Given the description of an element on the screen output the (x, y) to click on. 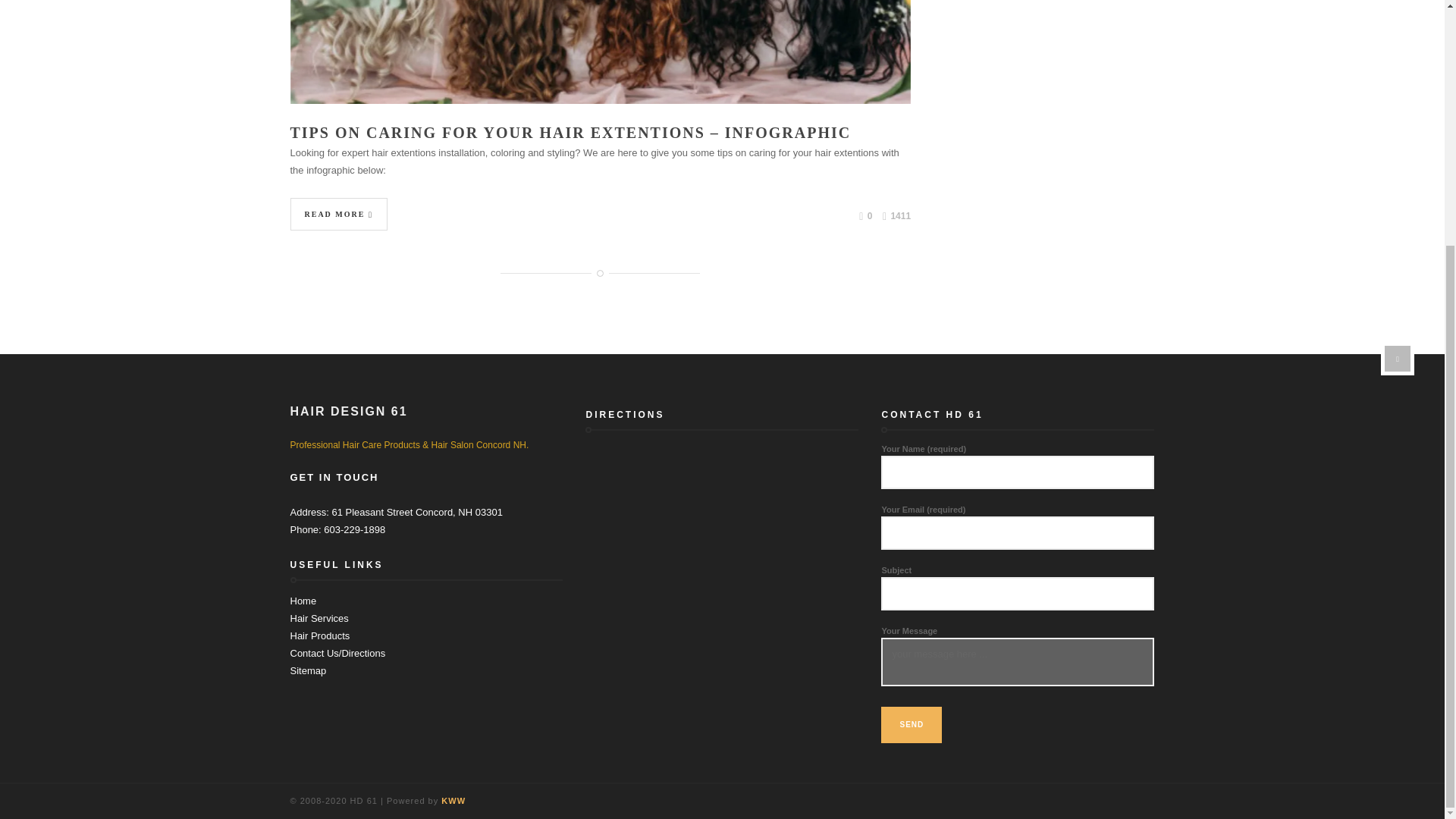
Hair Services (318, 618)
READ MORE (338, 214)
Post Views (896, 216)
Hair Products (319, 635)
Home (302, 600)
KWW (453, 800)
Send (911, 724)
Love this (865, 215)
Send (911, 724)
0 (865, 215)
Sitemap (307, 670)
